Given the description of an element on the screen output the (x, y) to click on. 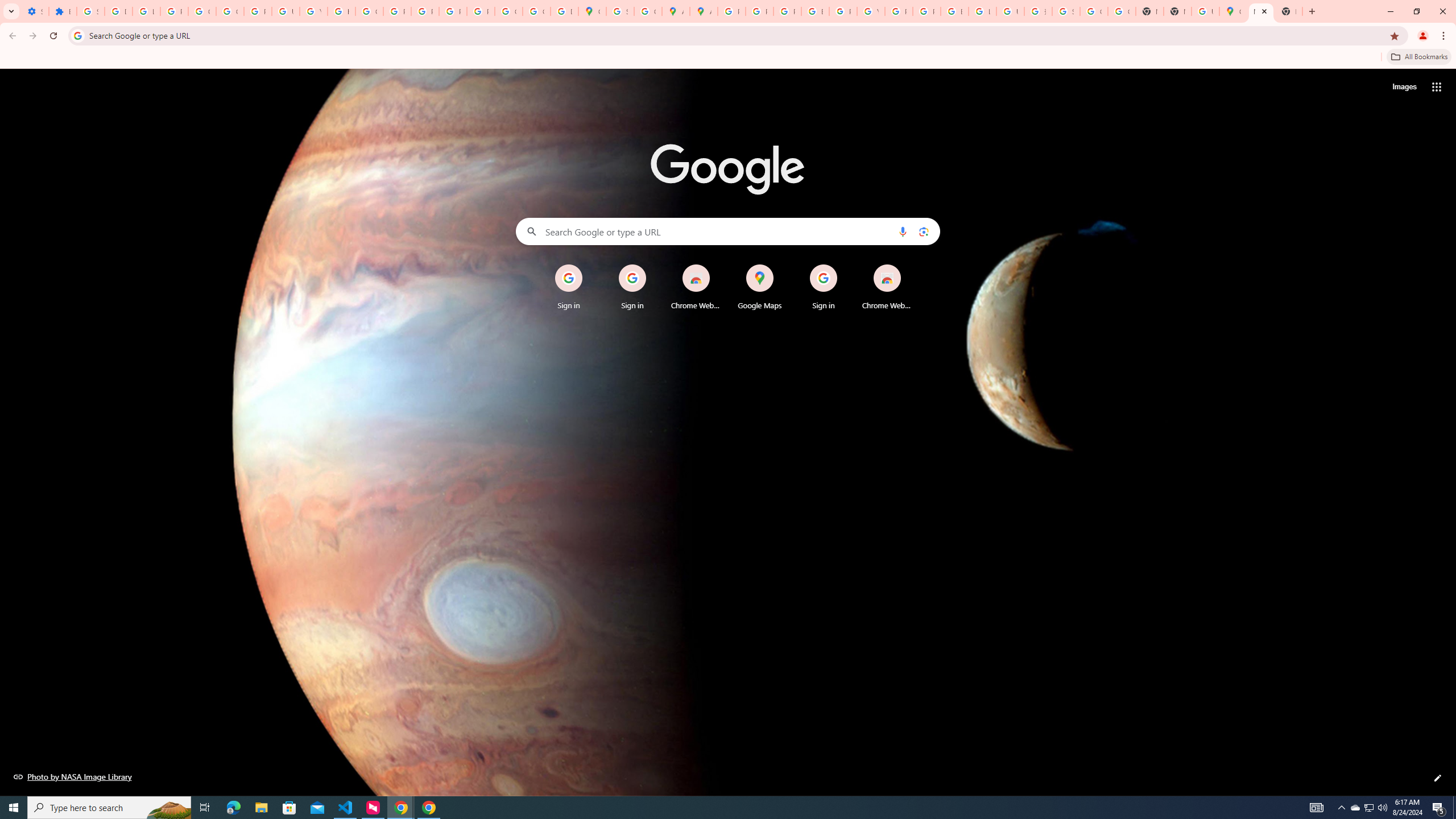
Sign in - Google Accounts (1065, 11)
Google Maps (760, 287)
Sign in - Google Accounts (90, 11)
Settings - On startup (34, 11)
Privacy Help Center - Policies Help (759, 11)
Policy Accountability and Transparency - Transparency Center (731, 11)
